Given the description of an element on the screen output the (x, y) to click on. 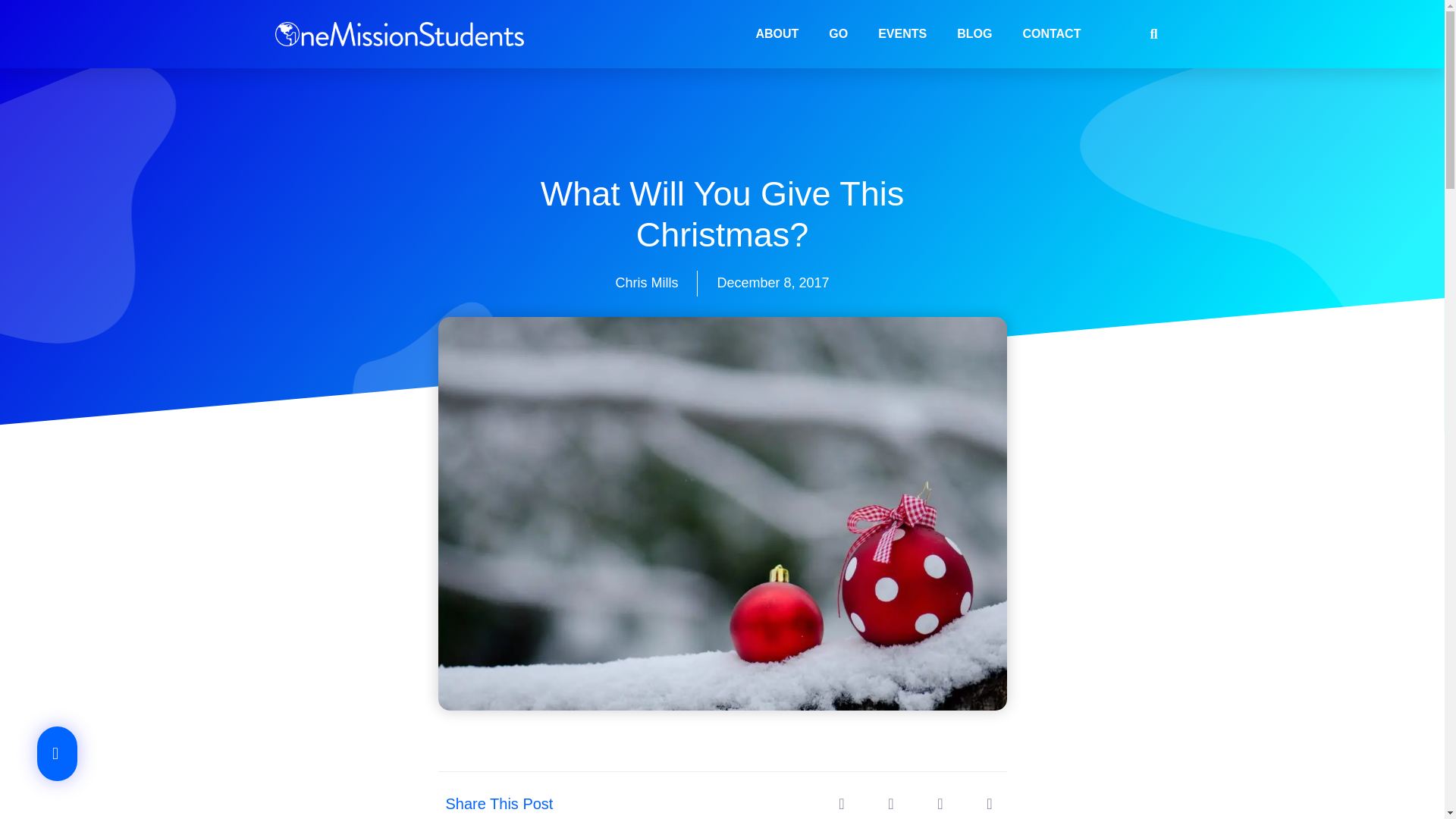
ABOUT (776, 33)
Chris Mills (646, 283)
BLOG (974, 33)
GO (838, 33)
EVENTS (902, 33)
December 8, 2017 (772, 283)
CONTACT (1051, 33)
